Given the description of an element on the screen output the (x, y) to click on. 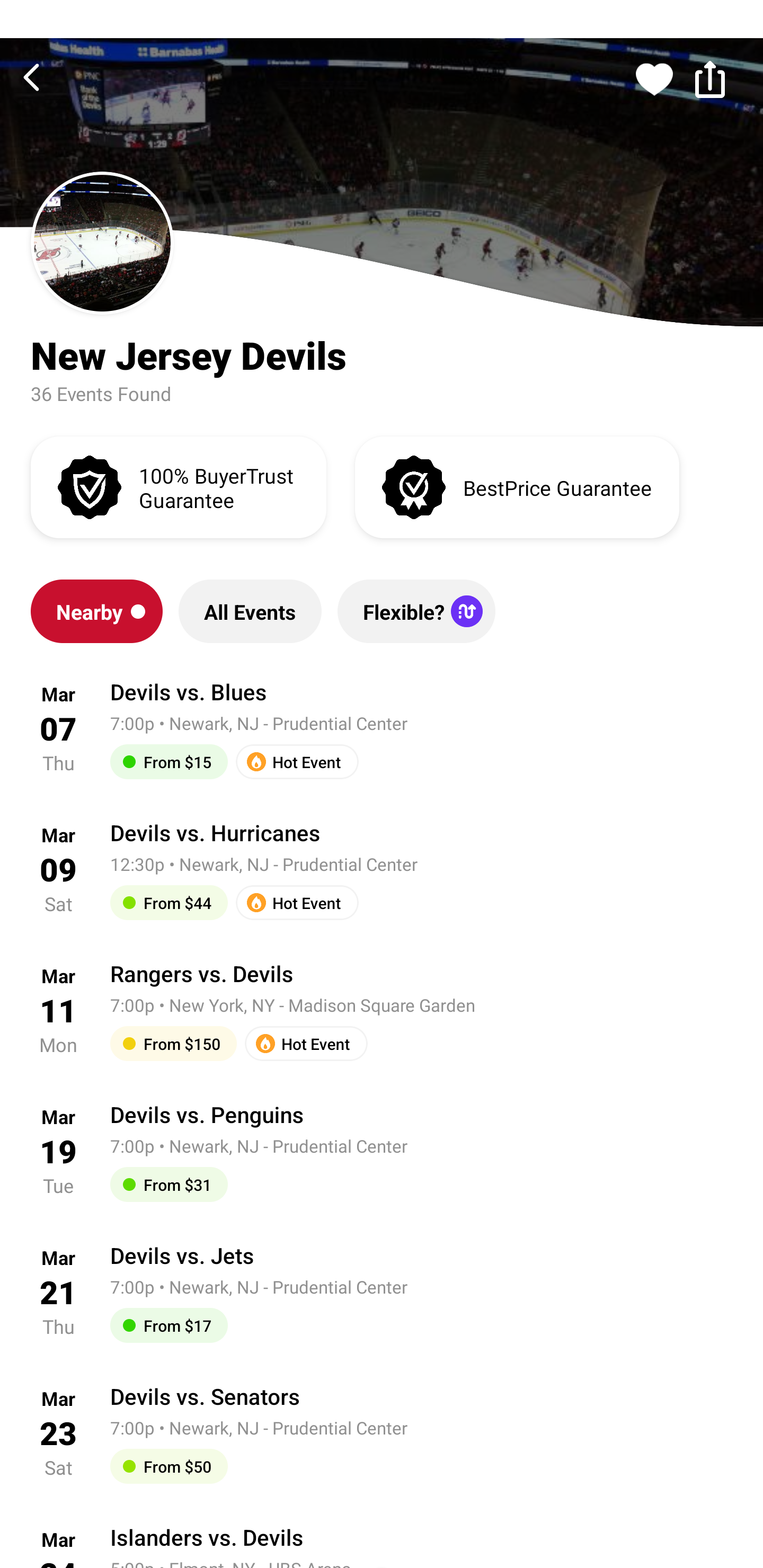
100% BuyerTrust Guarantee (178, 486)
BestPrice Guarantee (516, 486)
Nearby (96, 611)
All Events (249, 611)
Flexible? (416, 611)
